Given the description of an element on the screen output the (x, y) to click on. 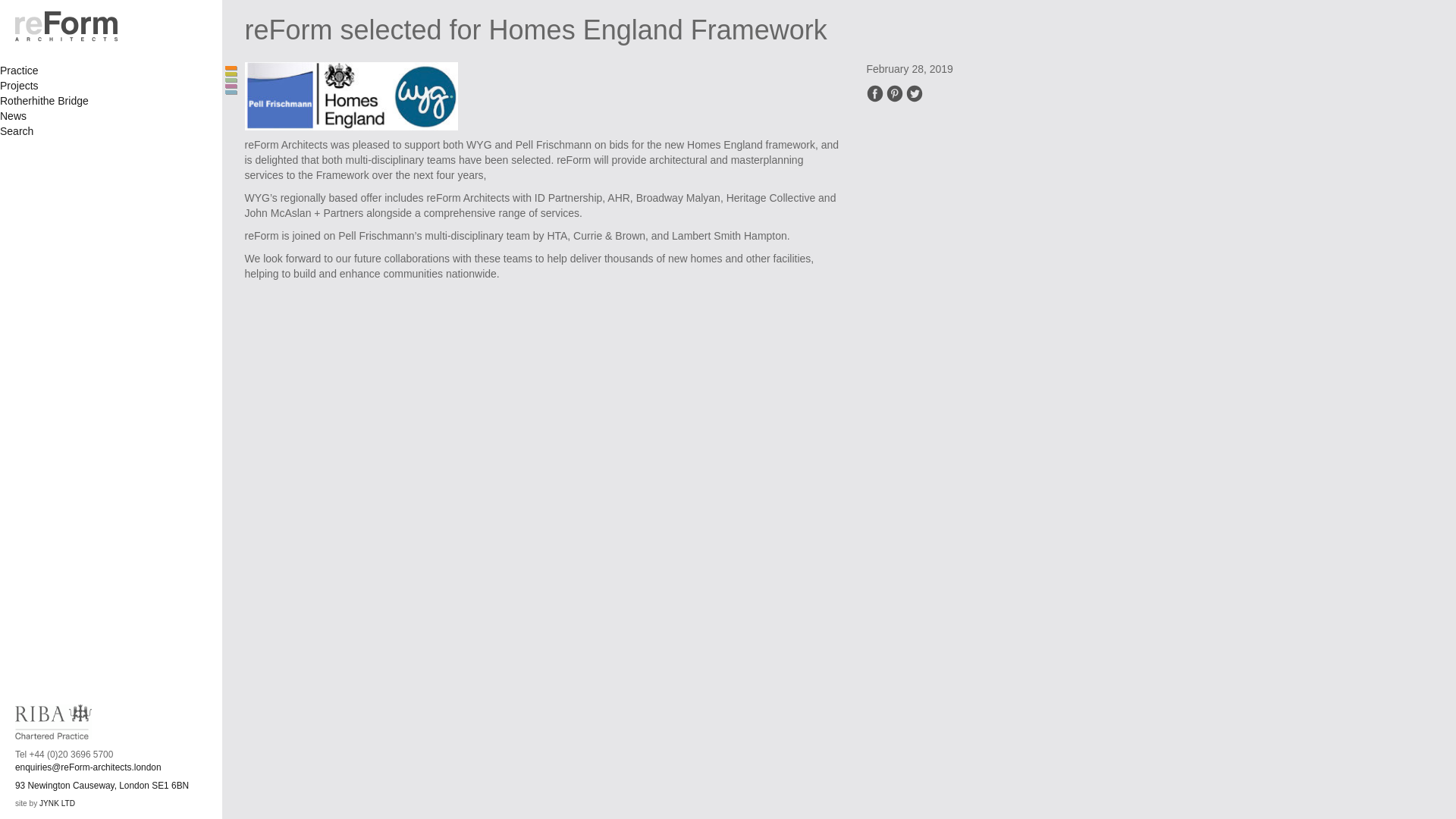
Rotherhithe Bridge (44, 101)
Search (16, 131)
reForm Architects, London (76, 26)
Practice (19, 70)
News (13, 115)
Facebook (101, 785)
JYNK LTD (874, 93)
Pinterest (57, 803)
Projects (894, 93)
Twitter (19, 85)
